Given the description of an element on the screen output the (x, y) to click on. 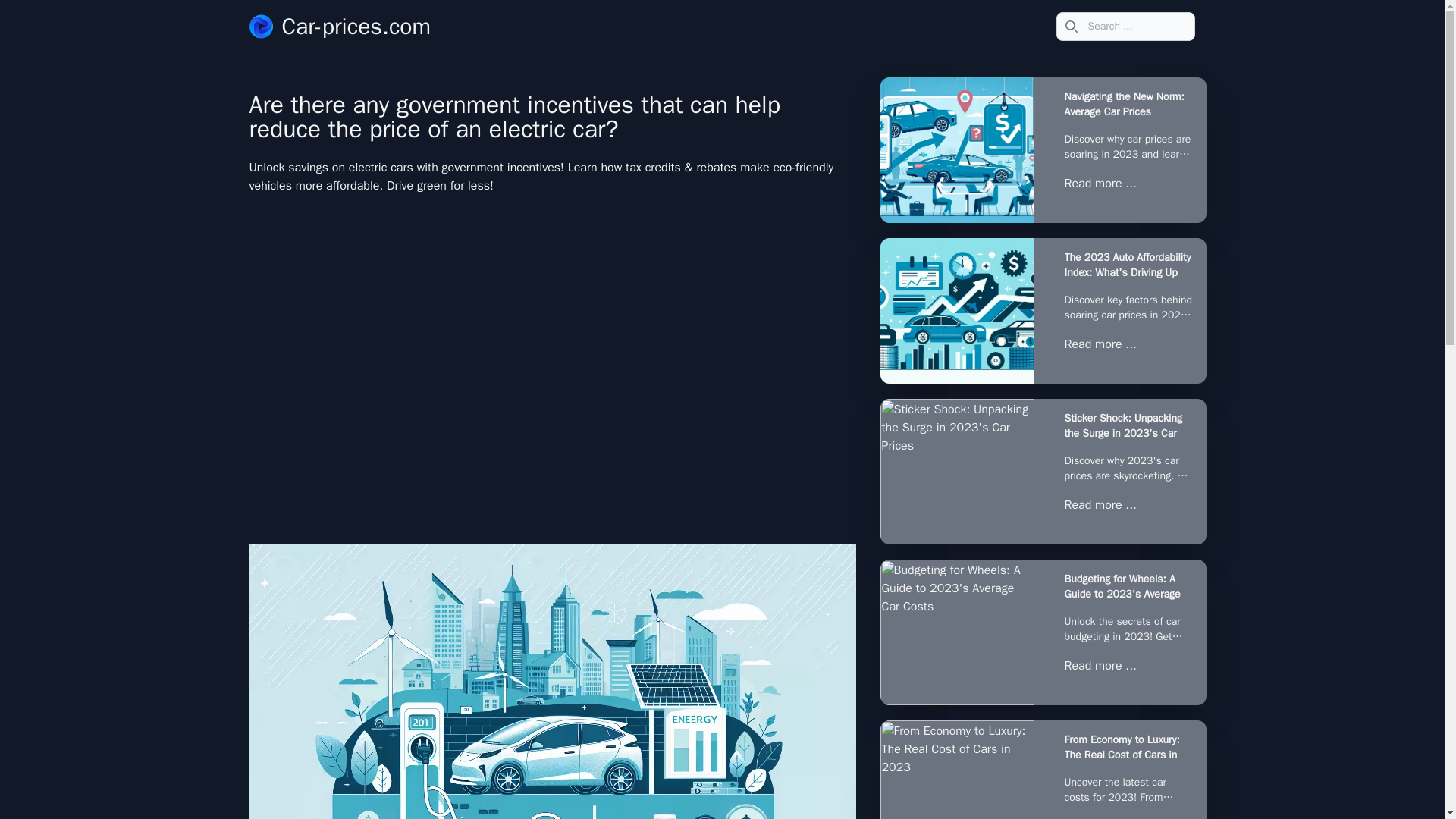
Budgeting for Wheels: A Guide to 2023's Average Car Costs (1128, 586)
Sticker Shock: Unpacking the Surge in 2023's Car Prices (1128, 426)
Sticker Shock: Unpacking the Surge in 2023's Car Prices (956, 471)
From Economy to Luxury: The Real Cost of Cars in 2023 (1128, 747)
From Economy to Luxury: The Real Cost of Cars in 2023 (956, 769)
